Given the description of an element on the screen output the (x, y) to click on. 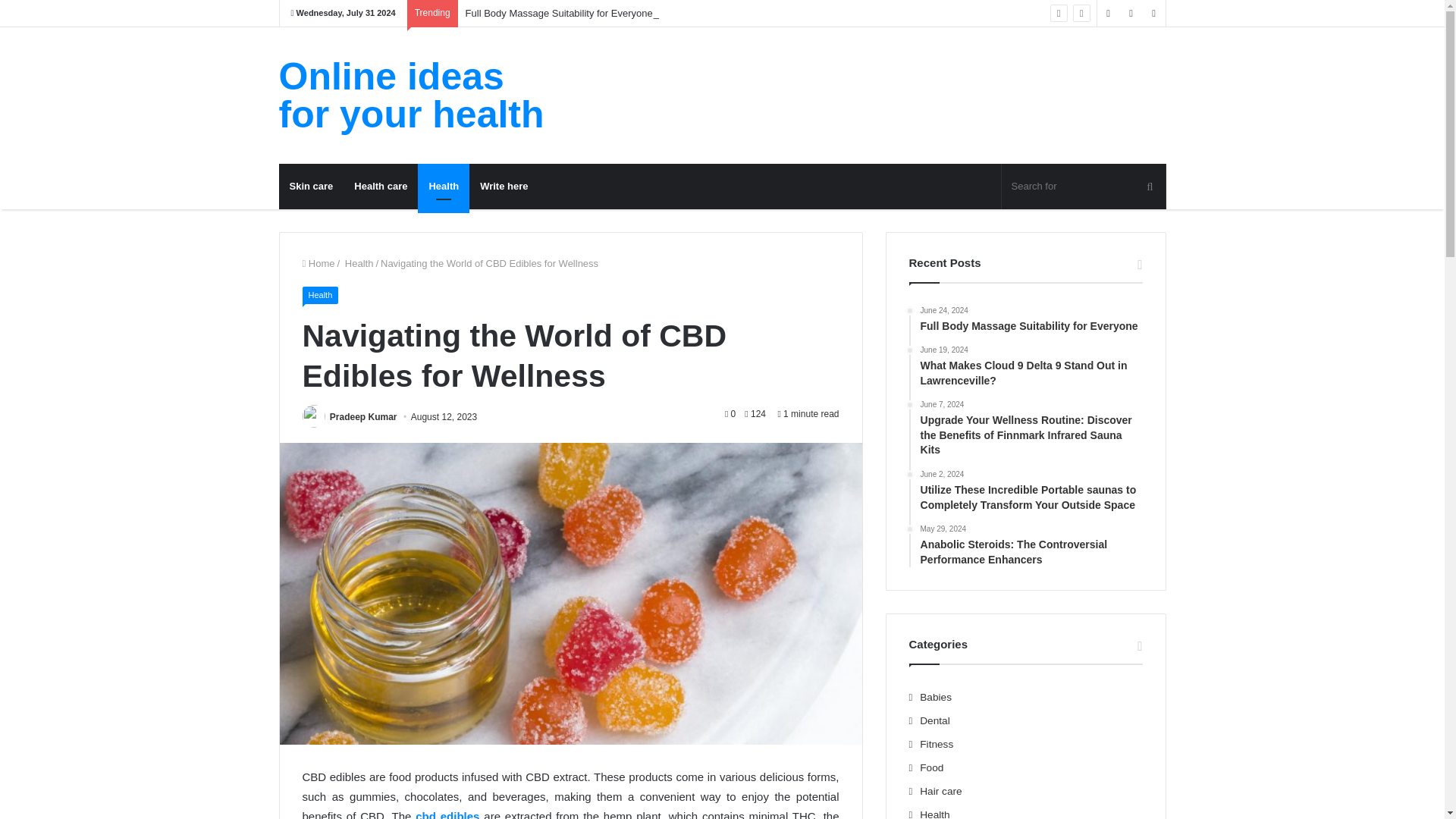
Pradeep Kumar (363, 416)
Health (357, 263)
Home (317, 263)
Health (442, 186)
0 (730, 413)
Pradeep Kumar (363, 416)
Health (319, 294)
cbd edibles (446, 814)
Full Body Massage Suitability for Everyone (558, 12)
Write here (503, 186)
Online ideas for your health (419, 95)
Online ideas for your health (419, 95)
Skin care (311, 186)
Health care (380, 186)
Search for (1082, 186)
